Given the description of an element on the screen output the (x, y) to click on. 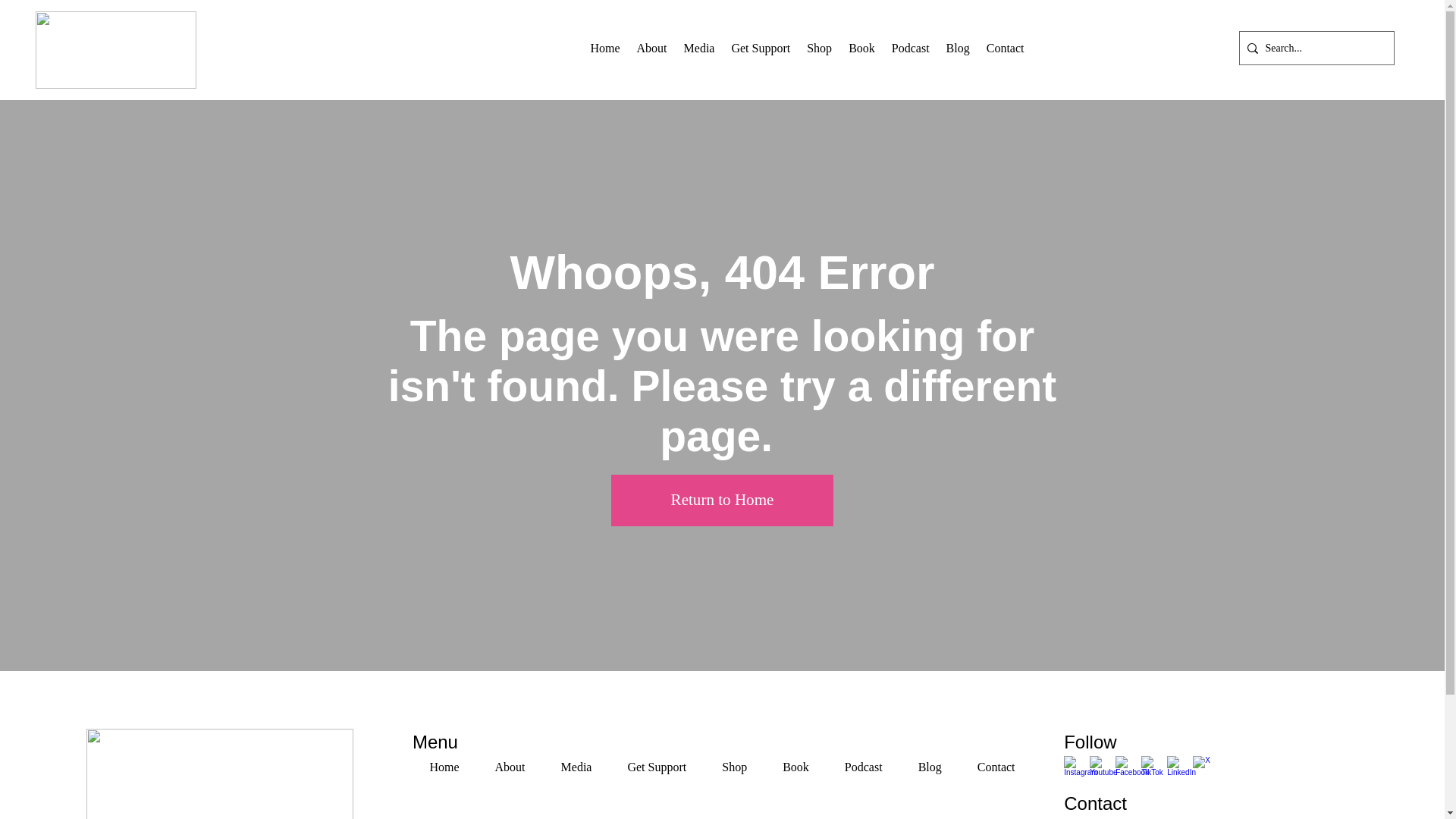
About (651, 48)
Home (604, 48)
Return to Home (721, 500)
Book (861, 48)
Media (699, 48)
Media (575, 766)
Home (444, 766)
Shop (819, 48)
Blog (957, 48)
